Given the description of an element on the screen output the (x, y) to click on. 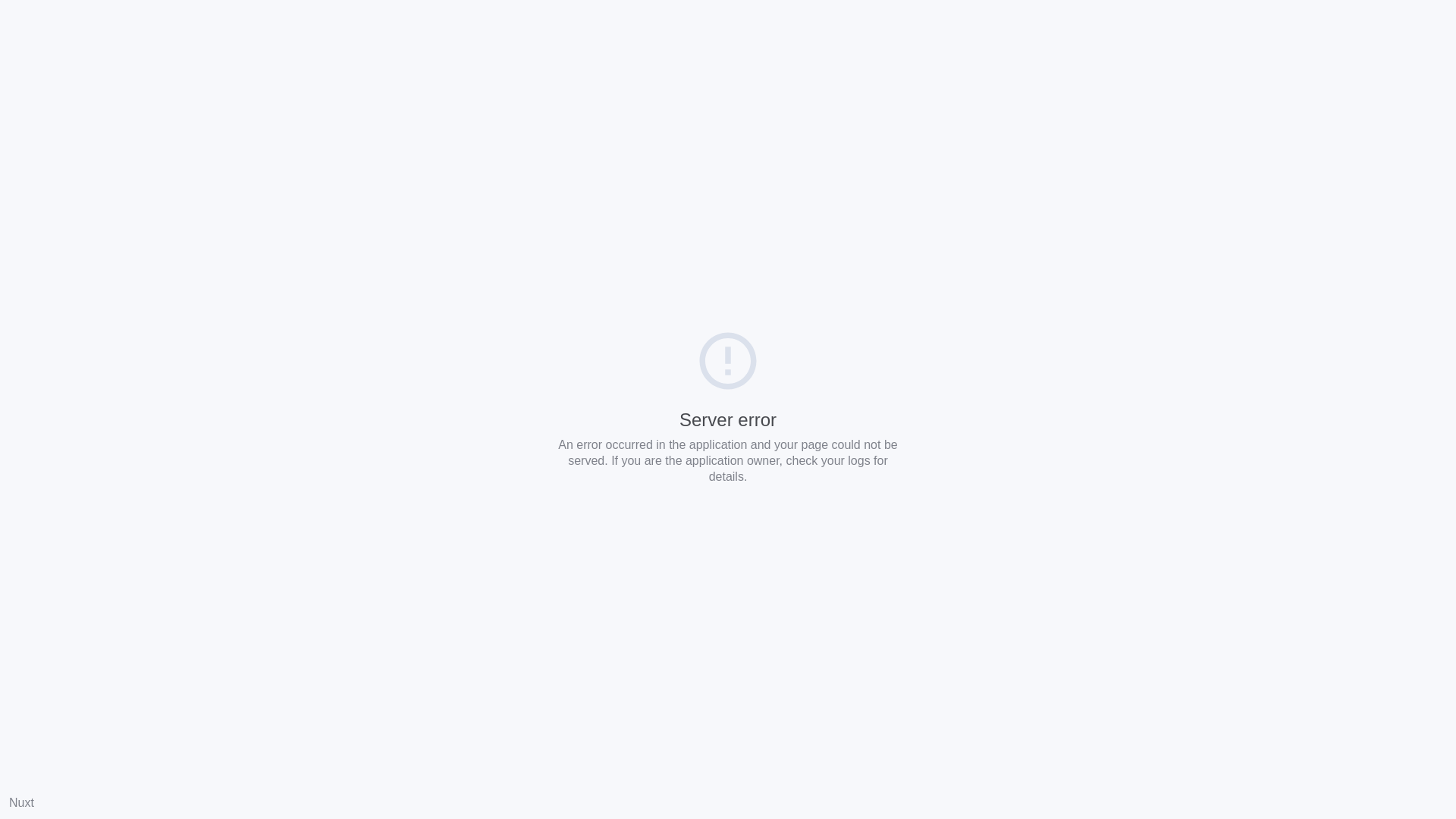
Nuxt Element type: text (21, 802)
